Given the description of an element on the screen output the (x, y) to click on. 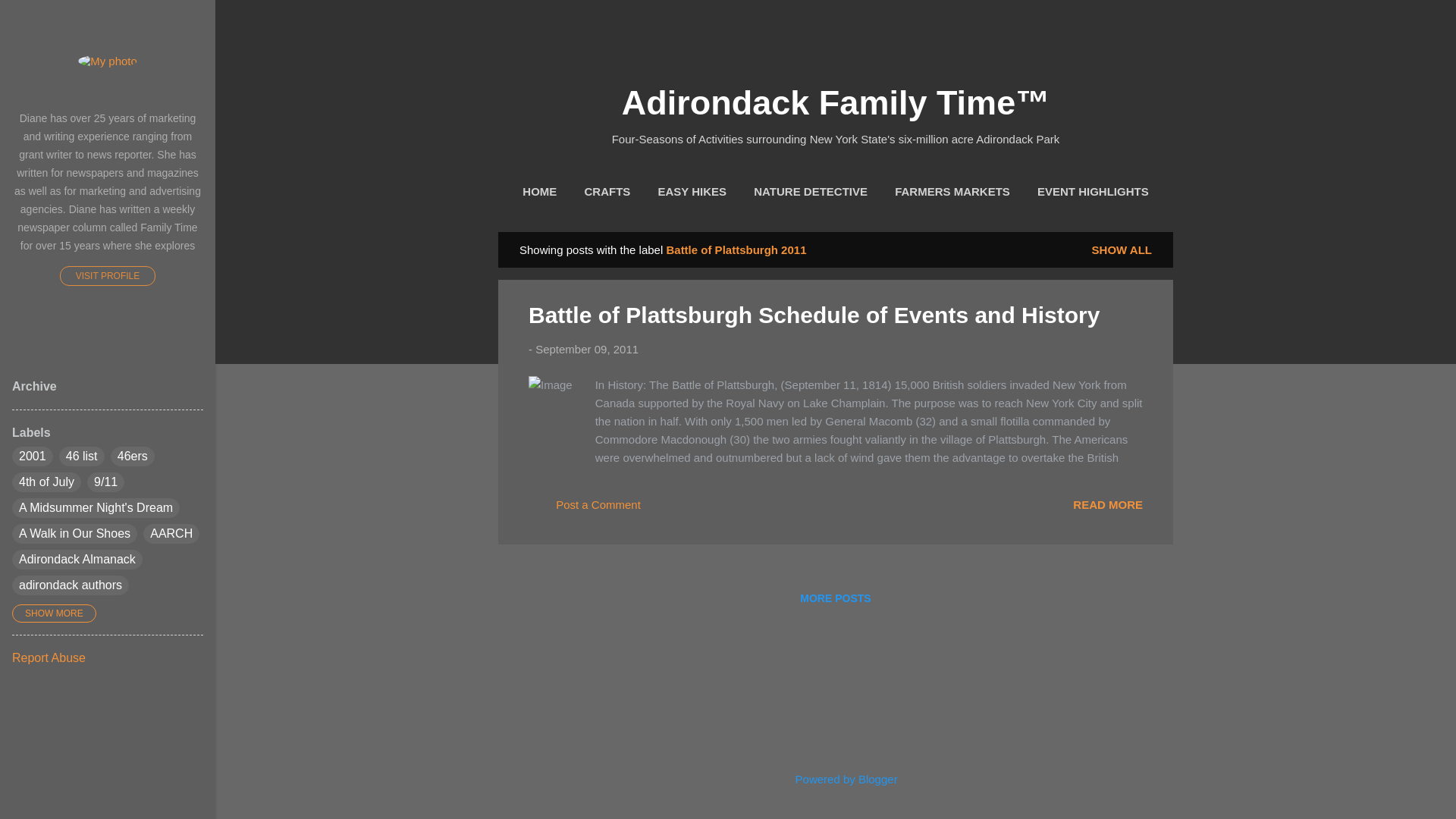
FARMERS MARKETS (952, 192)
CRAFTS (607, 192)
More posts (834, 598)
September 09, 2011 (587, 349)
Search (29, 18)
NATURE DETECTIVE (810, 192)
MORE POSTS (834, 598)
Post a Comment (584, 509)
READ MORE (1107, 503)
SHOW ALL (1121, 249)
EVENT HIGHLIGHTS (1092, 192)
Powered by Blogger (834, 779)
permanent link (587, 349)
HOME (539, 192)
Battle of Plattsburgh Schedule of Events and History (813, 314)
